Given the description of an element on the screen output the (x, y) to click on. 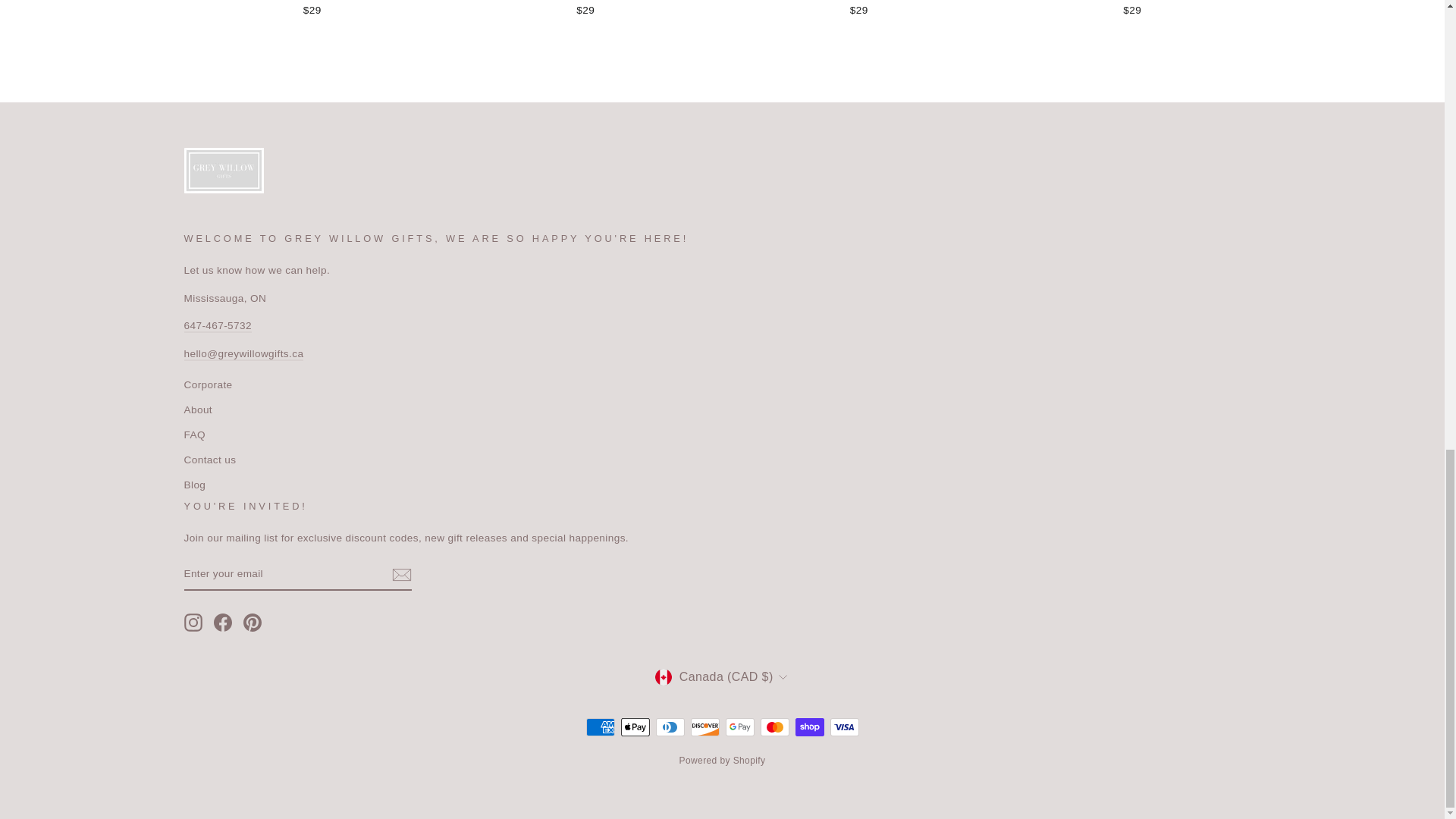
Discover (704, 727)
Grey Willow Gifts Inc. on Instagram (192, 622)
Mastercard (774, 727)
American Express (599, 727)
Diners Club (669, 727)
Grey Willow Gifts Inc. on Pinterest (251, 622)
Google Pay (739, 727)
tel:6474675732 (216, 326)
Apple Pay (634, 727)
Shop Pay (809, 727)
